Given the description of an element on the screen output the (x, y) to click on. 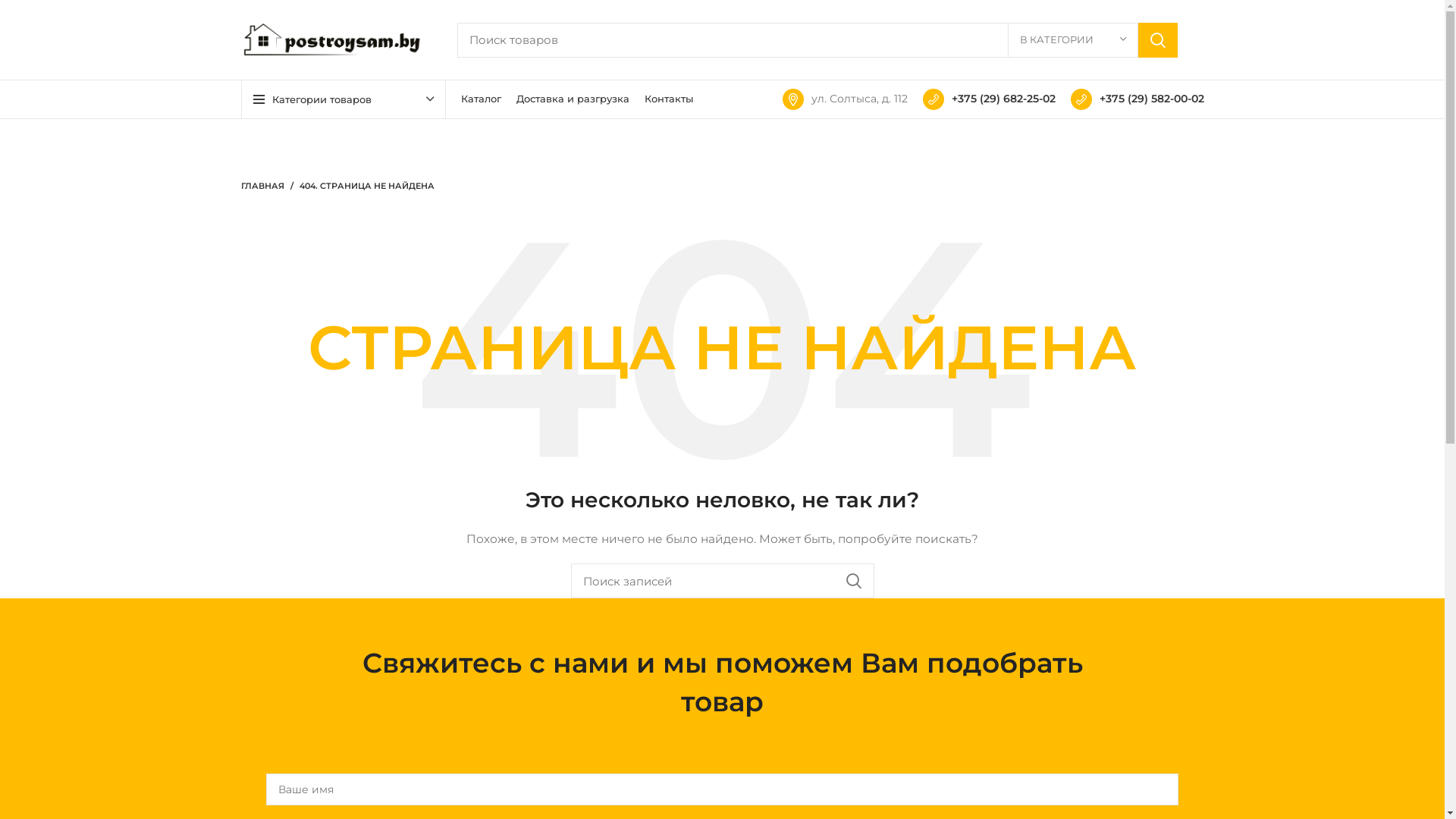
+375 (29) 682-25-02 Element type: text (988, 98)
+375 (29) 582-00-02 Element type: text (1137, 98)
